Given the description of an element on the screen output the (x, y) to click on. 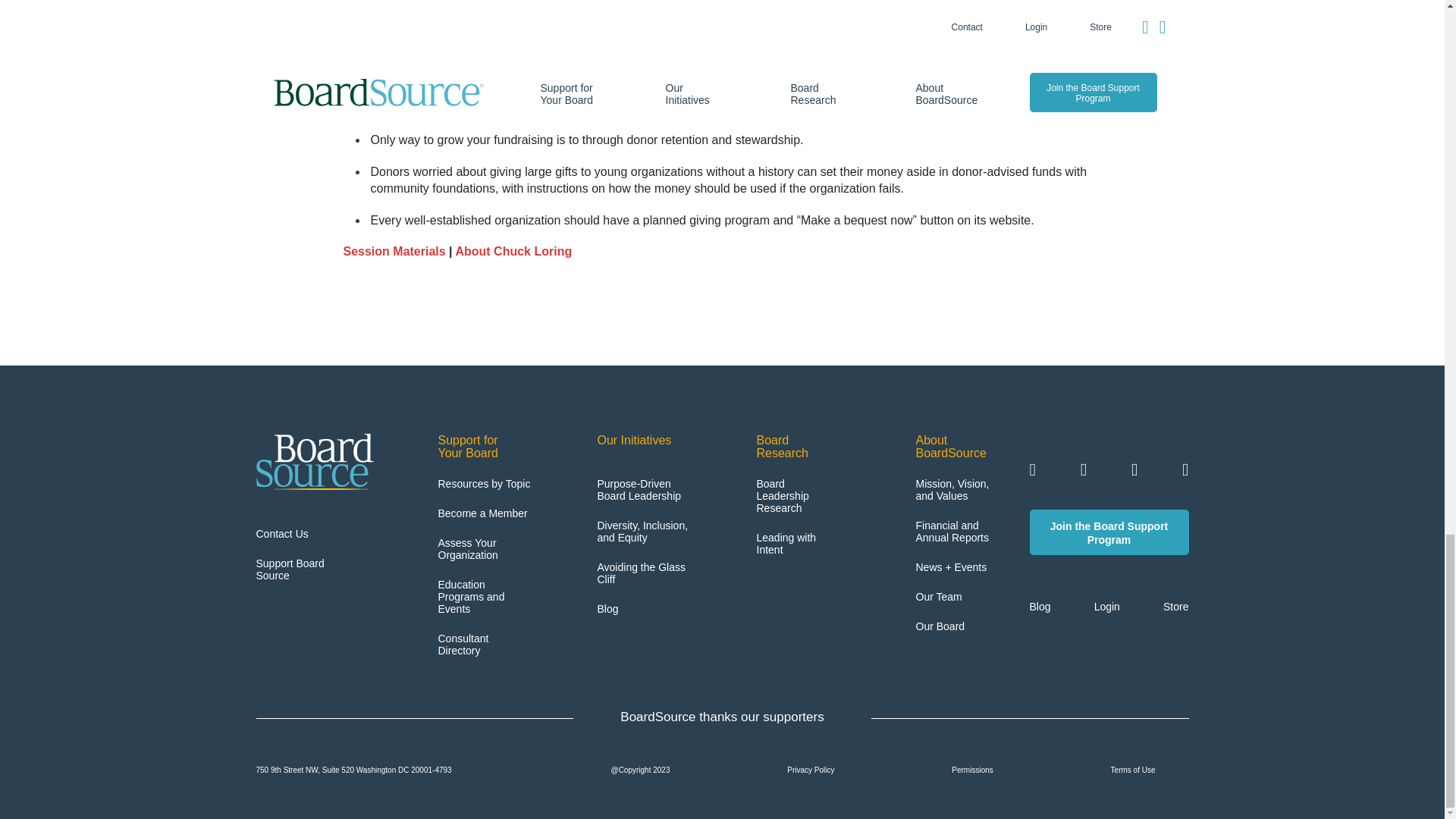
title (948, 446)
title (481, 446)
title (639, 440)
title (790, 446)
